Given the description of an element on the screen output the (x, y) to click on. 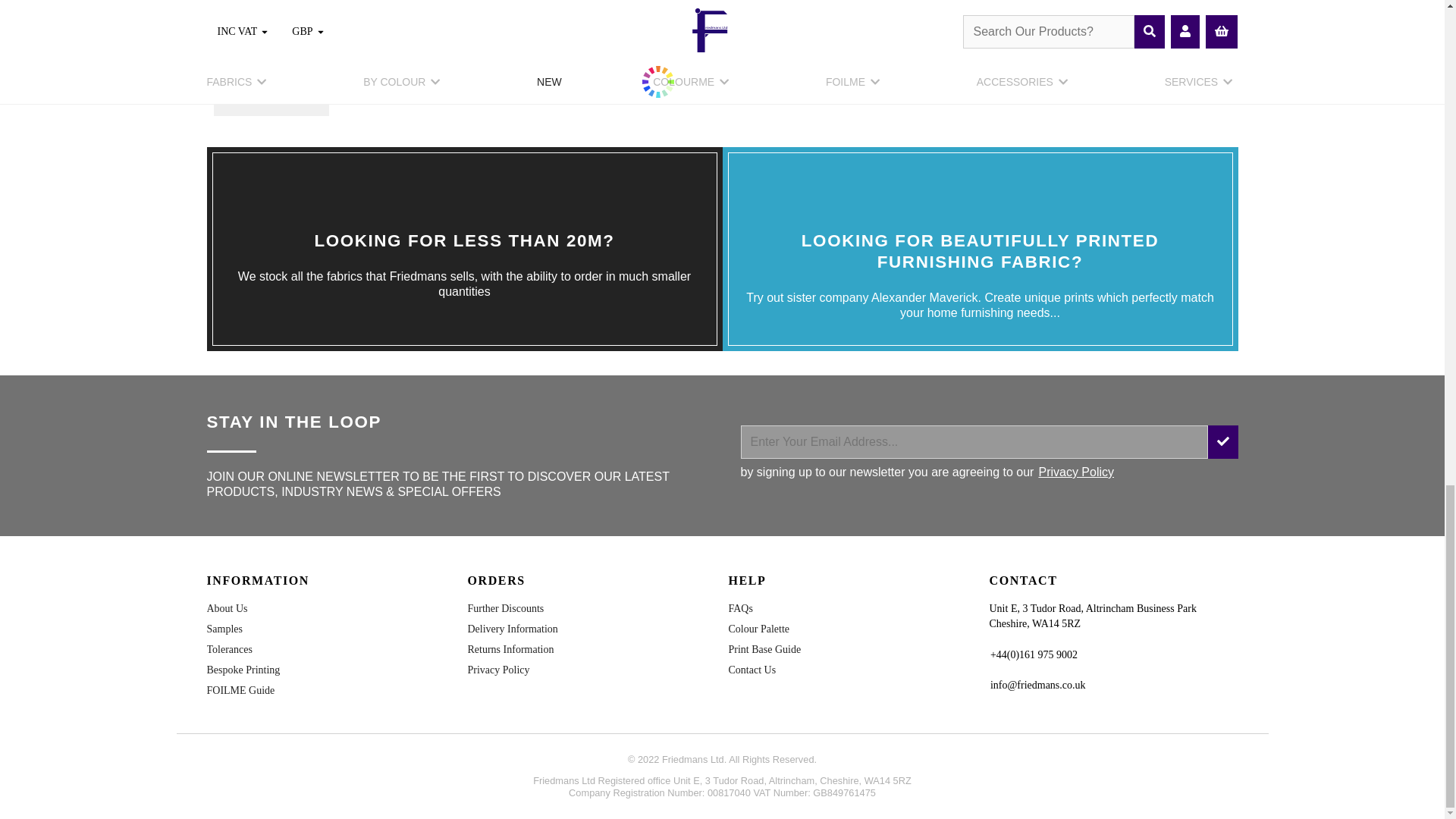
LETTER V - RHINESTONE ALPHABET CHARM (270, 61)
